Given the description of an element on the screen output the (x, y) to click on. 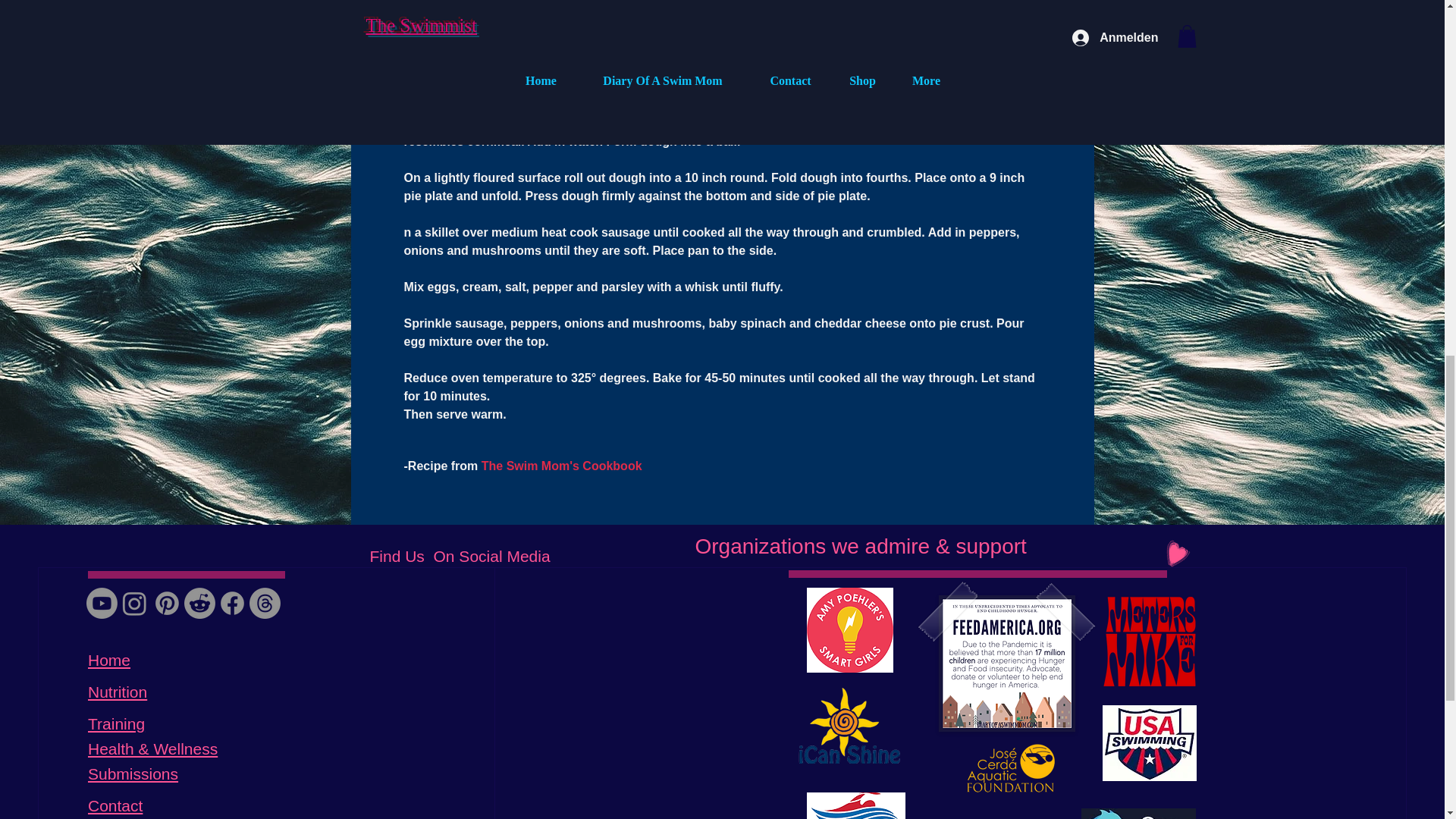
Contact (114, 805)
Home (109, 660)
Submissions (132, 773)
Nutrition (117, 692)
Training (115, 723)
